Given the description of an element on the screen output the (x, y) to click on. 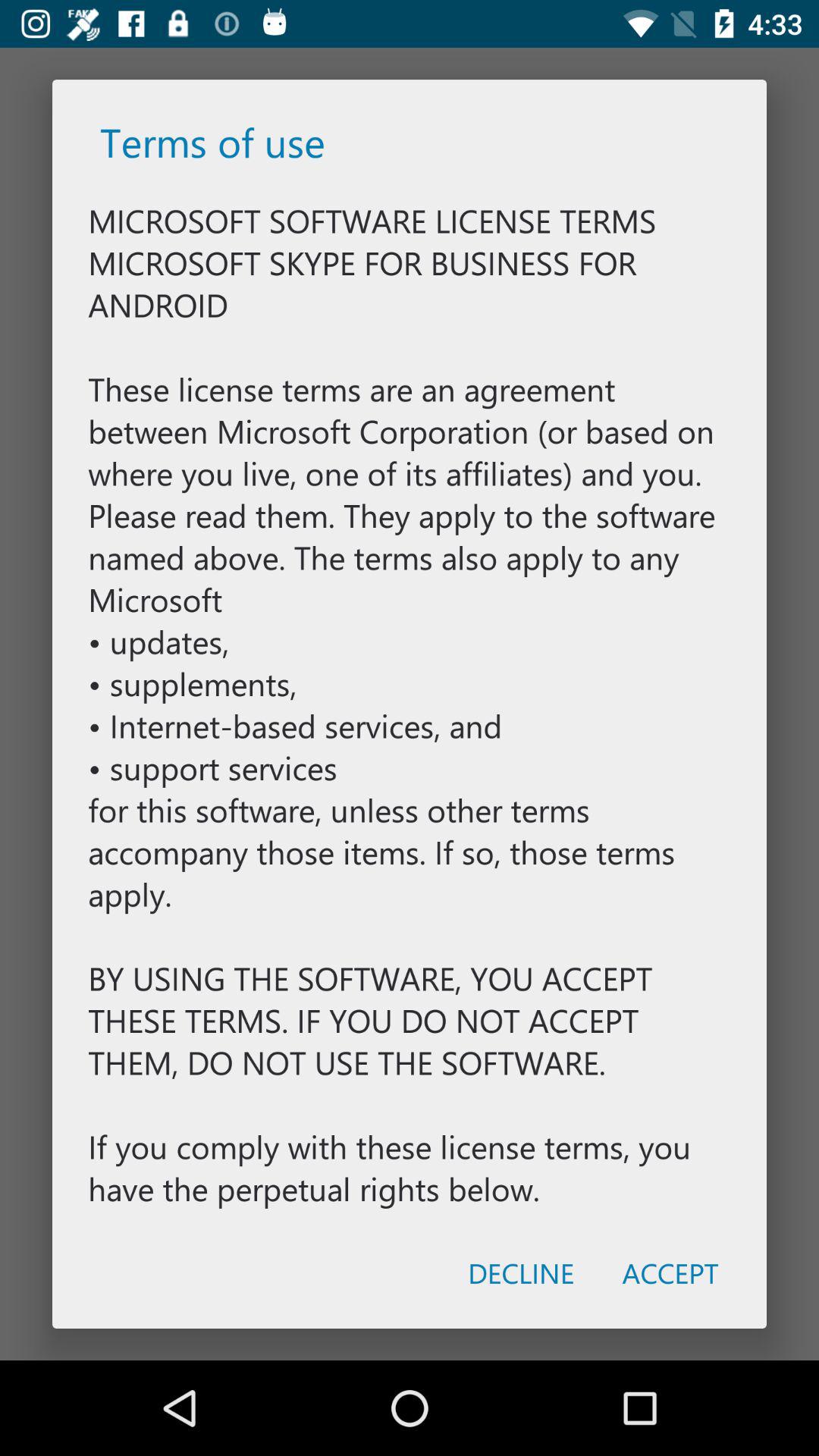
select the icon to the left of the accept icon (521, 1272)
